Given the description of an element on the screen output the (x, y) to click on. 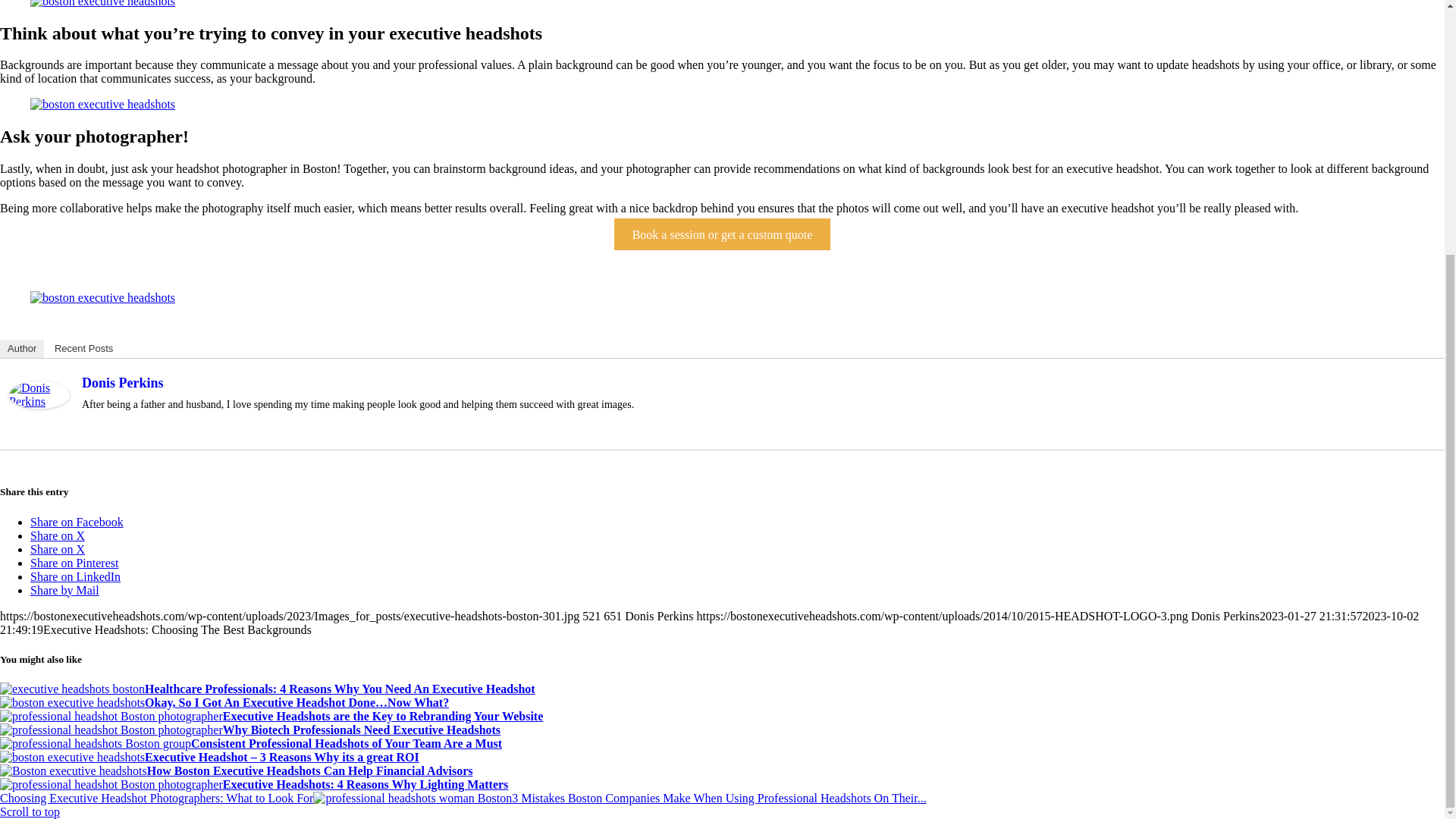
Donis Perkins (122, 382)
Executive Headshots are the Key to Rebranding Your Website (271, 716)
blog image place holder (102, 297)
Author (21, 348)
Book a session or get a custom quote (721, 234)
Share on X (57, 535)
Share on Pinterest (73, 562)
Recent Posts (83, 348)
Share on X (57, 549)
How Boston Executive Headshots Can Help Financial Advisors (236, 770)
blog image place holder (102, 104)
Consistent Professional Headshots of Your Team Are a Must (251, 743)
Donis Perkins (38, 404)
